Given the description of an element on the screen output the (x, y) to click on. 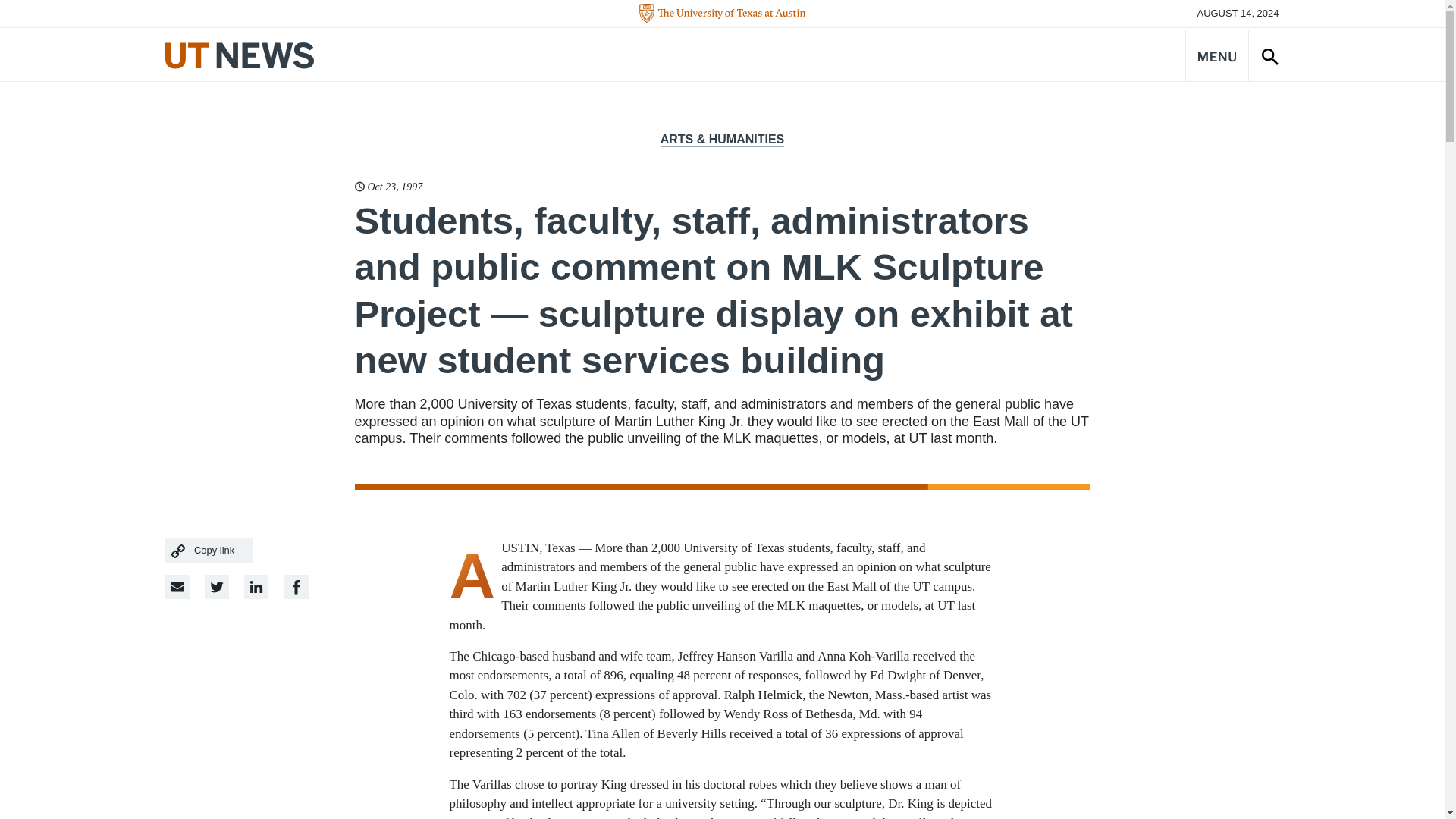
Facebook Share Link (255, 586)
Email Share Link (177, 586)
The University of Texas at Austin (722, 13)
Twitter Share Link (216, 586)
Navigation (1216, 55)
UT News (239, 55)
Copy link (209, 550)
LinkedIn Share Link (295, 586)
